Given the description of an element on the screen output the (x, y) to click on. 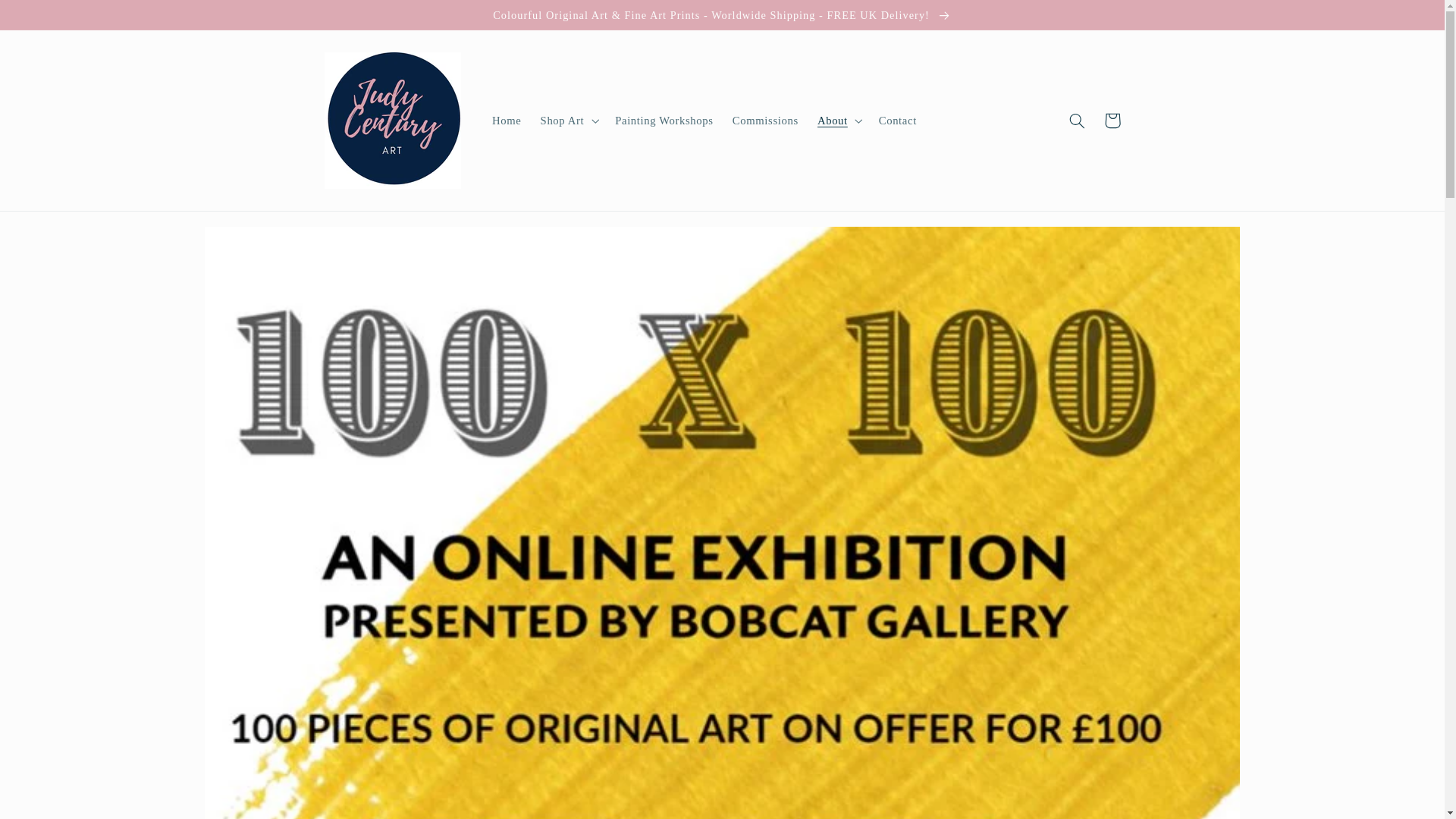
Commissions (765, 120)
Home (506, 120)
Painting Workshops (664, 120)
Cart (1111, 120)
Contact (897, 120)
Skip to content (48, 18)
